Given the description of an element on the screen output the (x, y) to click on. 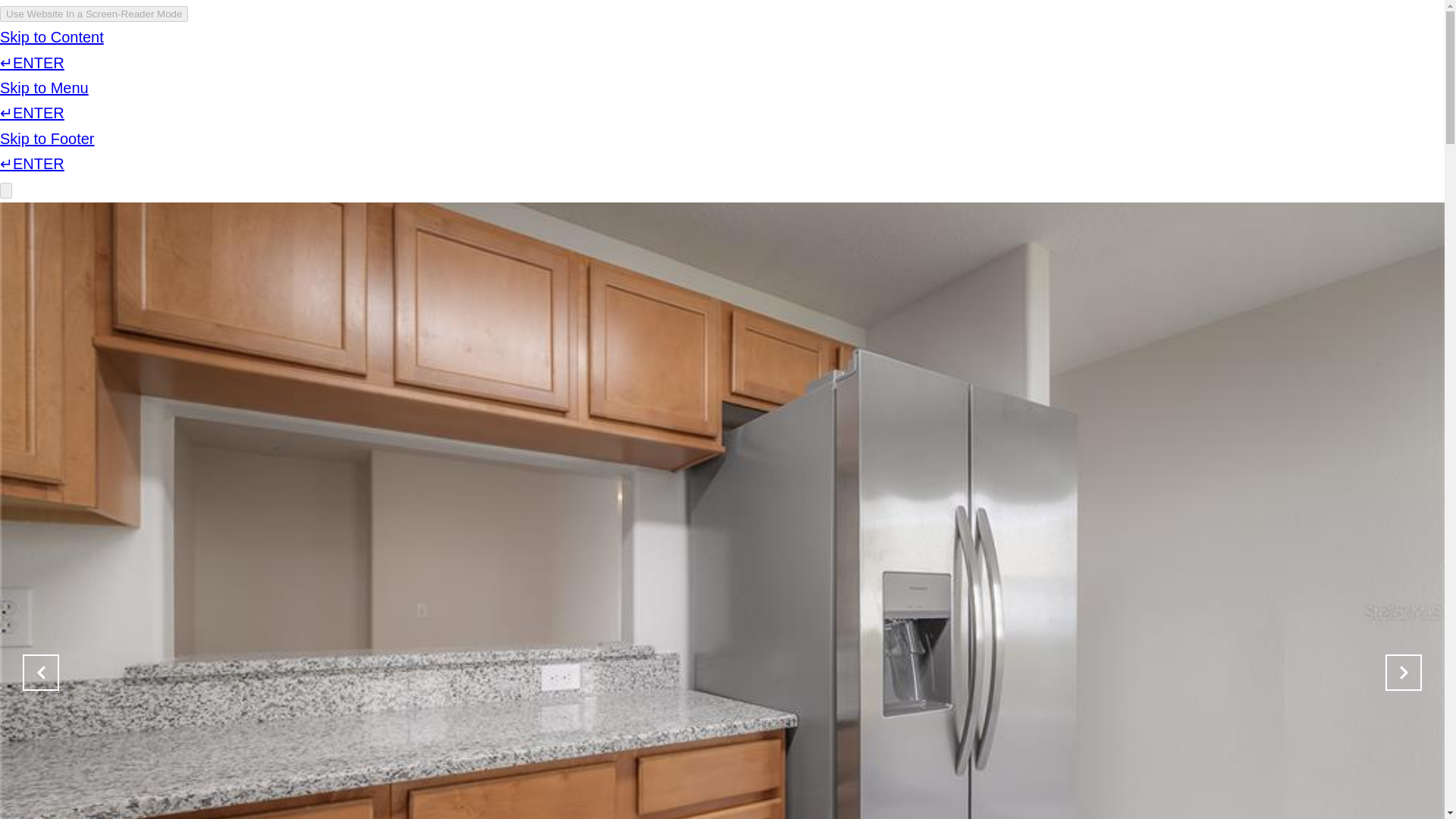
HOME SEARCH (954, 55)
CONTACT US (1054, 55)
FEATURED PROPERTIES (821, 55)
